Given the description of an element on the screen output the (x, y) to click on. 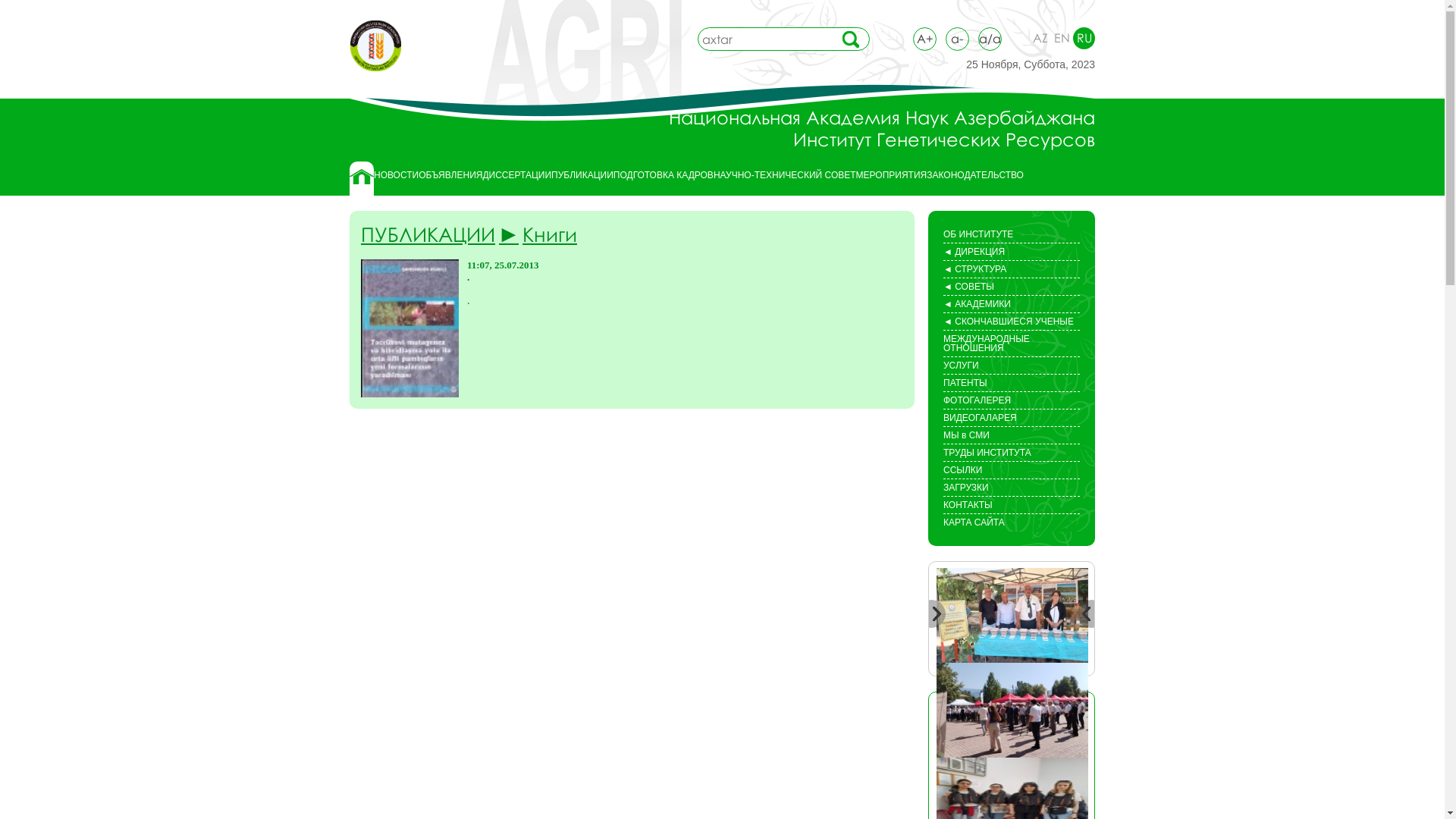
AZ Element type: text (1040, 38)
a/a Element type: text (989, 38)
RU Element type: text (1084, 38)
EN Element type: text (1062, 38)
a- Element type: text (957, 38)
search Element type: text (850, 39)
A+ Element type: text (924, 38)
